Given the description of an element on the screen output the (x, y) to click on. 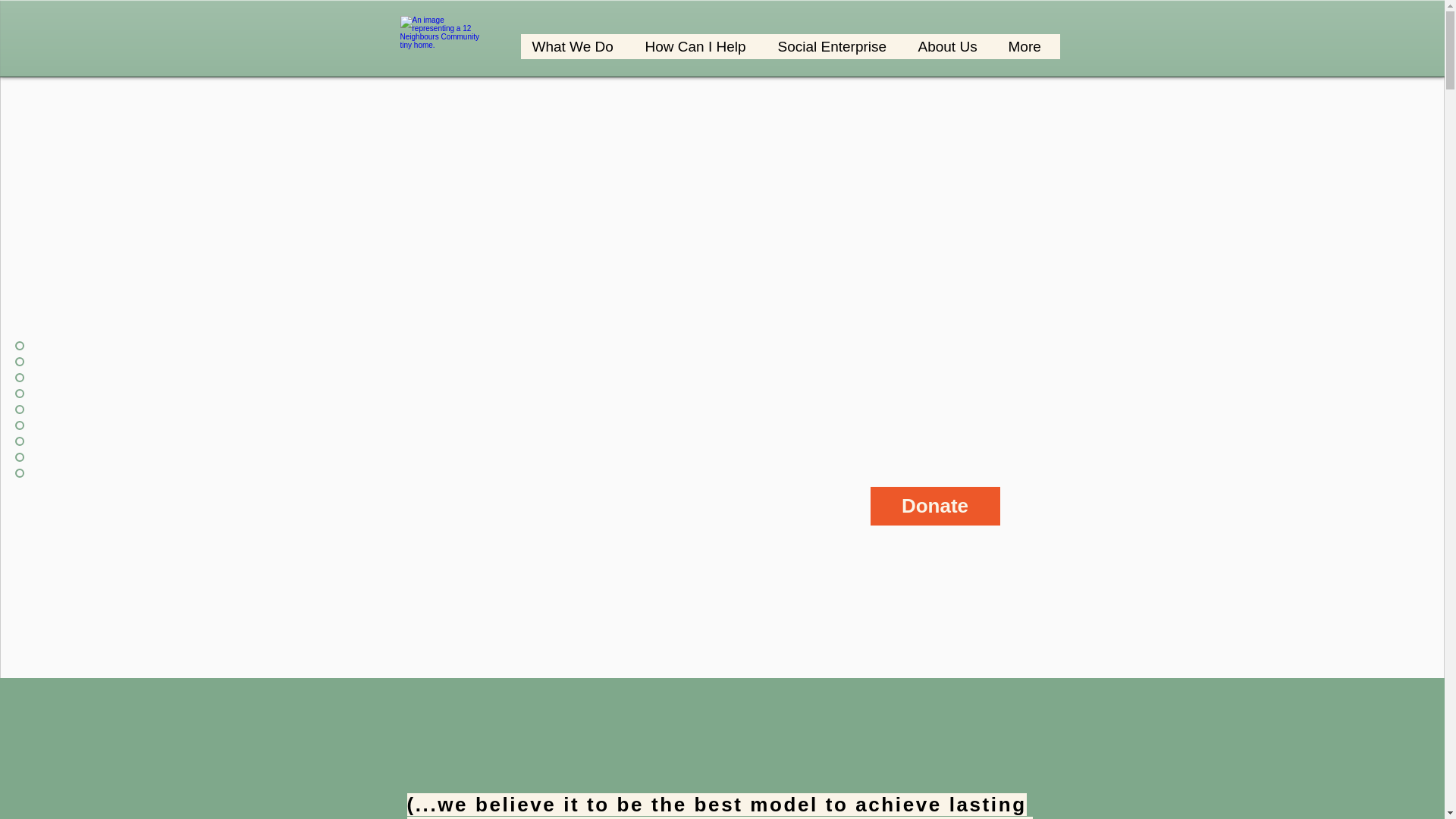
About Us Element type: text (950, 46)
What We Do Element type: text (576, 46)
Donate Element type: text (935, 505)
How Can I Help Element type: text (698, 46)
